Given the description of an element on the screen output the (x, y) to click on. 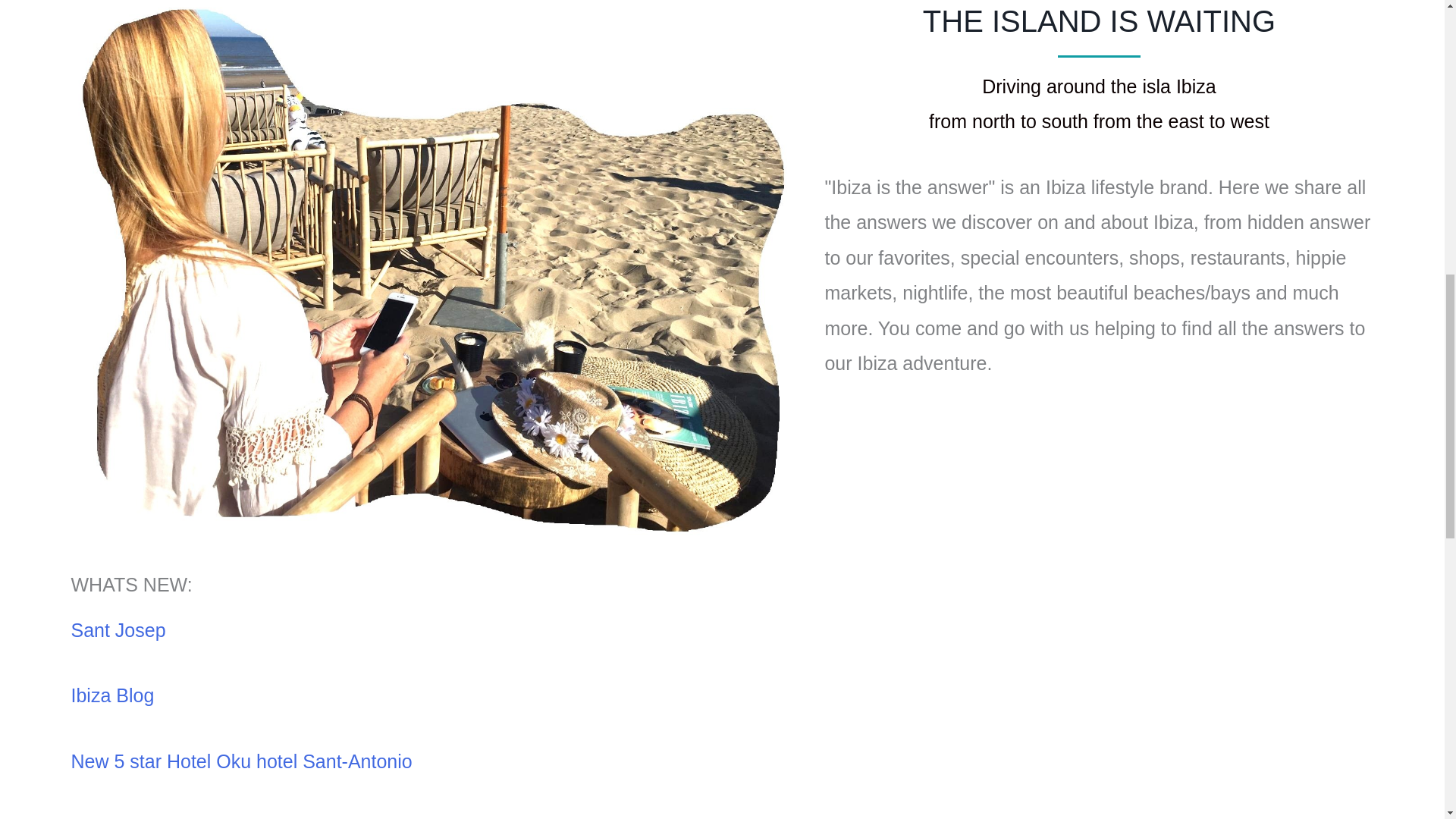
Sant Josep (118, 629)
Ibiza Blog (112, 694)
